Given the description of an element on the screen output the (x, y) to click on. 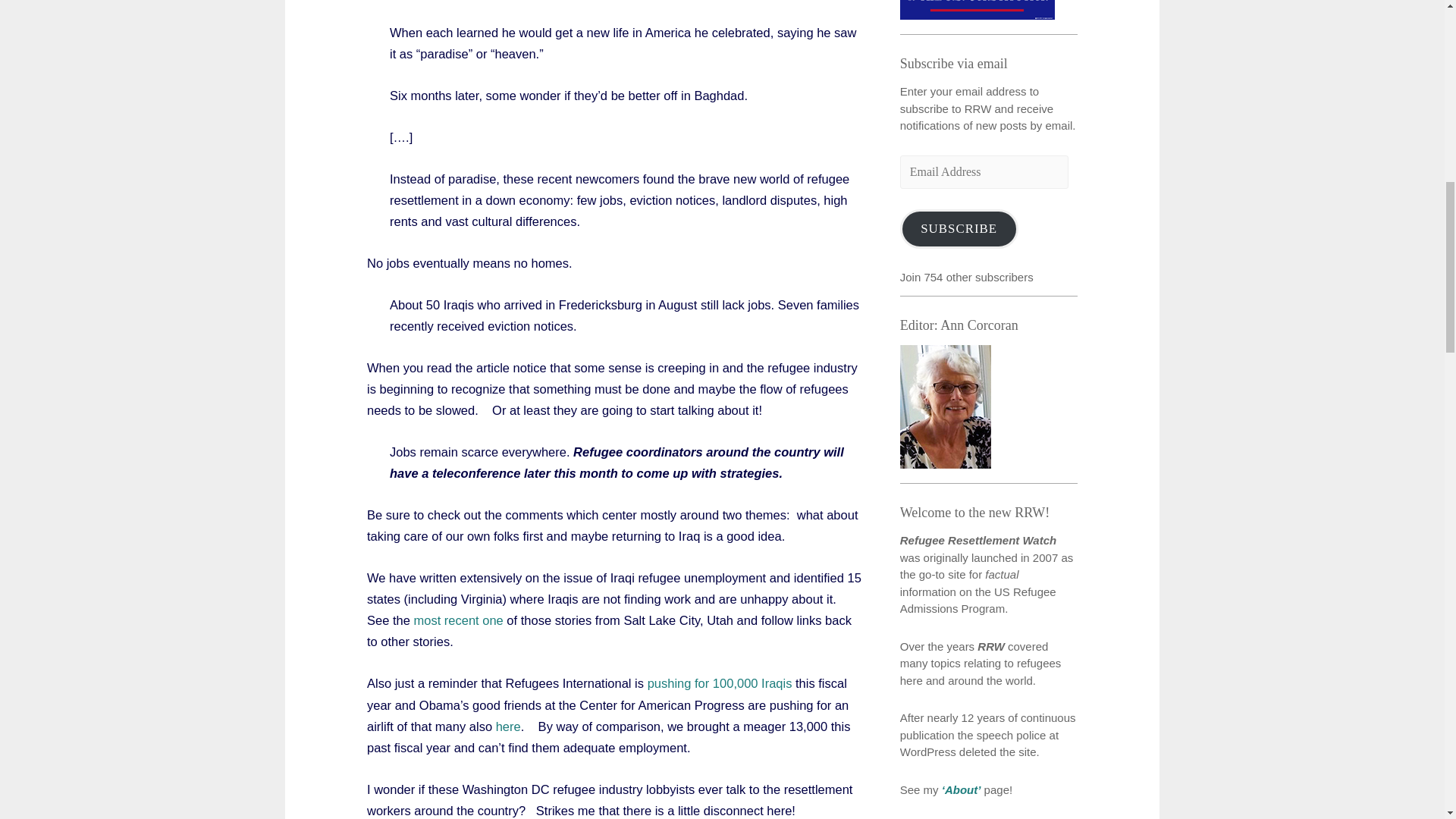
most recent one (457, 620)
pushing for 100,000 Iraqis (720, 683)
here (508, 726)
